Given the description of an element on the screen output the (x, y) to click on. 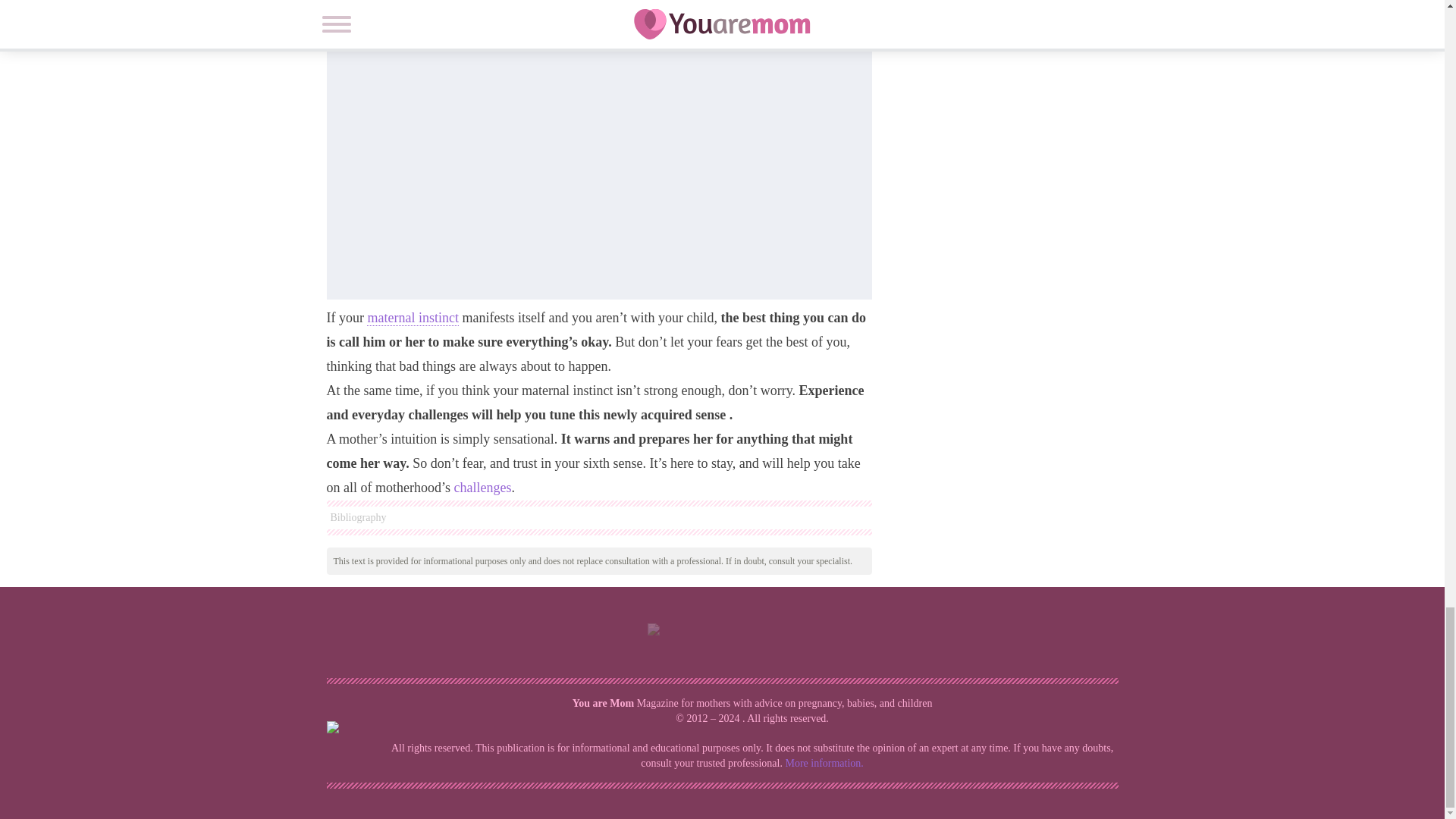
challenges (481, 487)
maternal instinct (412, 317)
More information. (823, 763)
Bibliography (598, 517)
